Given the description of an element on the screen output the (x, y) to click on. 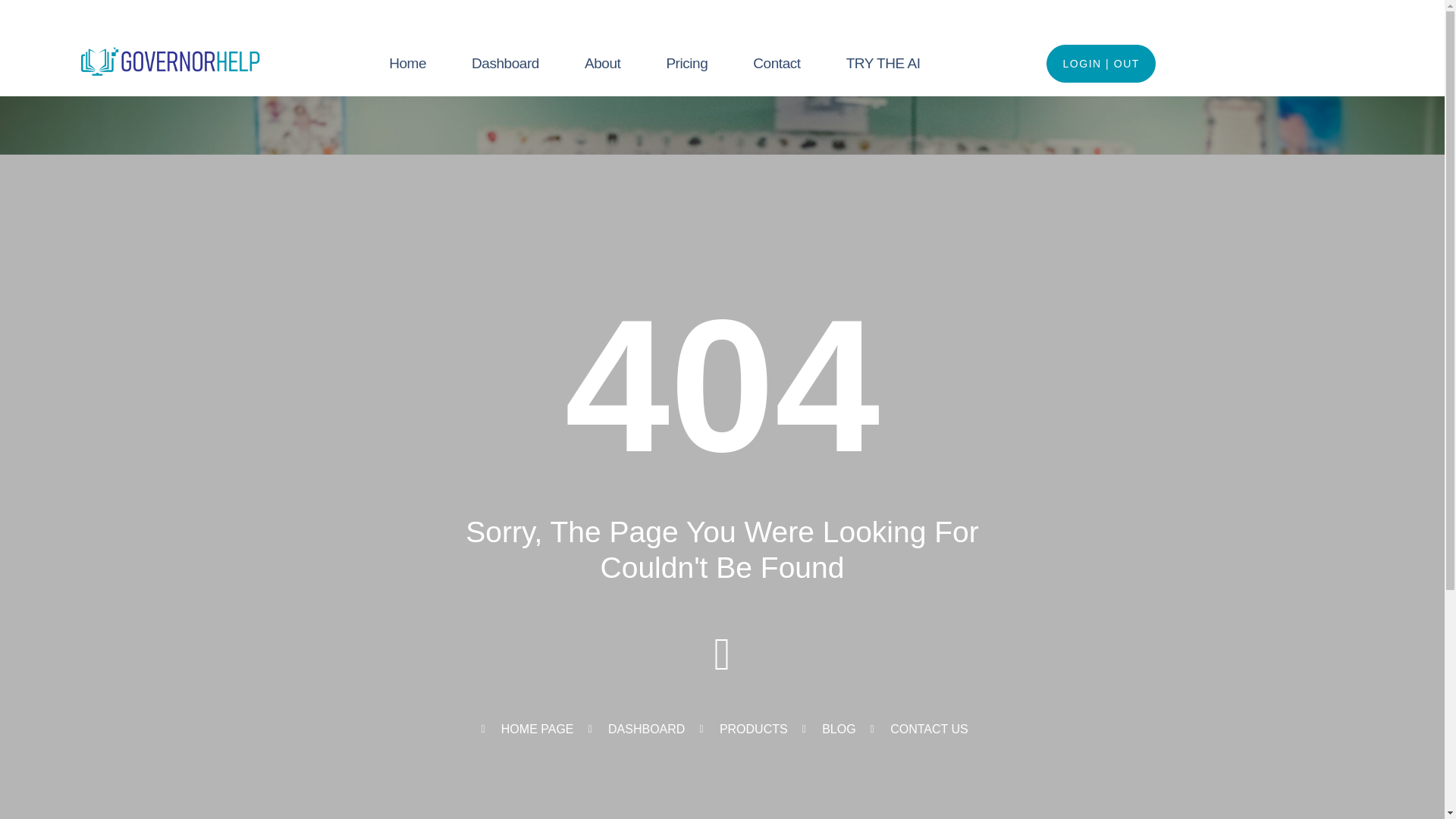
CONTACT US (917, 729)
BLOG (826, 729)
PRODUCTS (740, 729)
About (601, 63)
Dashboard (505, 63)
DASHBOARD (634, 729)
HOME PAGE (524, 729)
TRY THE AI (883, 63)
Pricing (686, 63)
Home (407, 63)
